Given the description of an element on the screen output the (x, y) to click on. 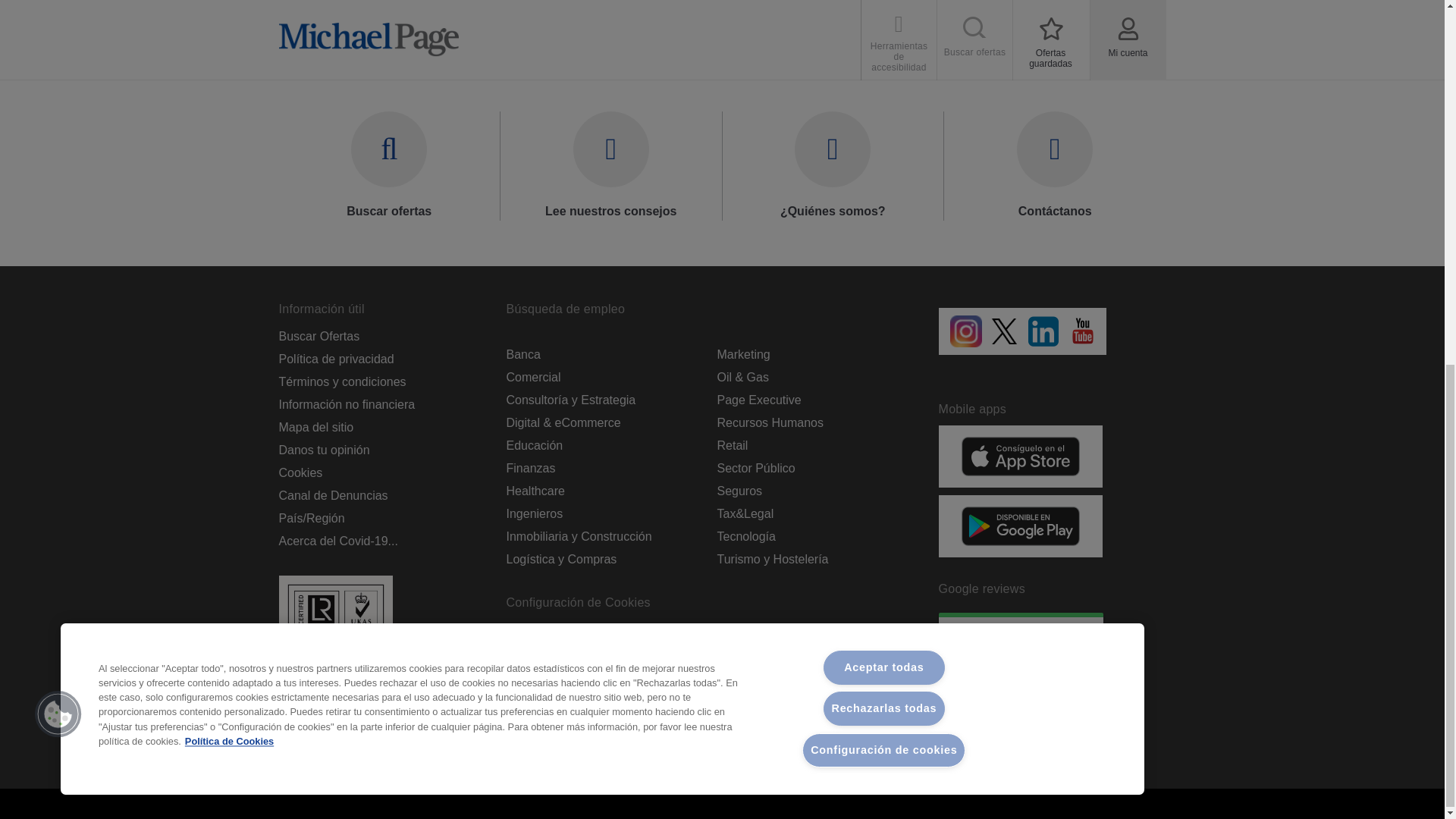
Cookies Button (57, 60)
